Given the description of an element on the screen output the (x, y) to click on. 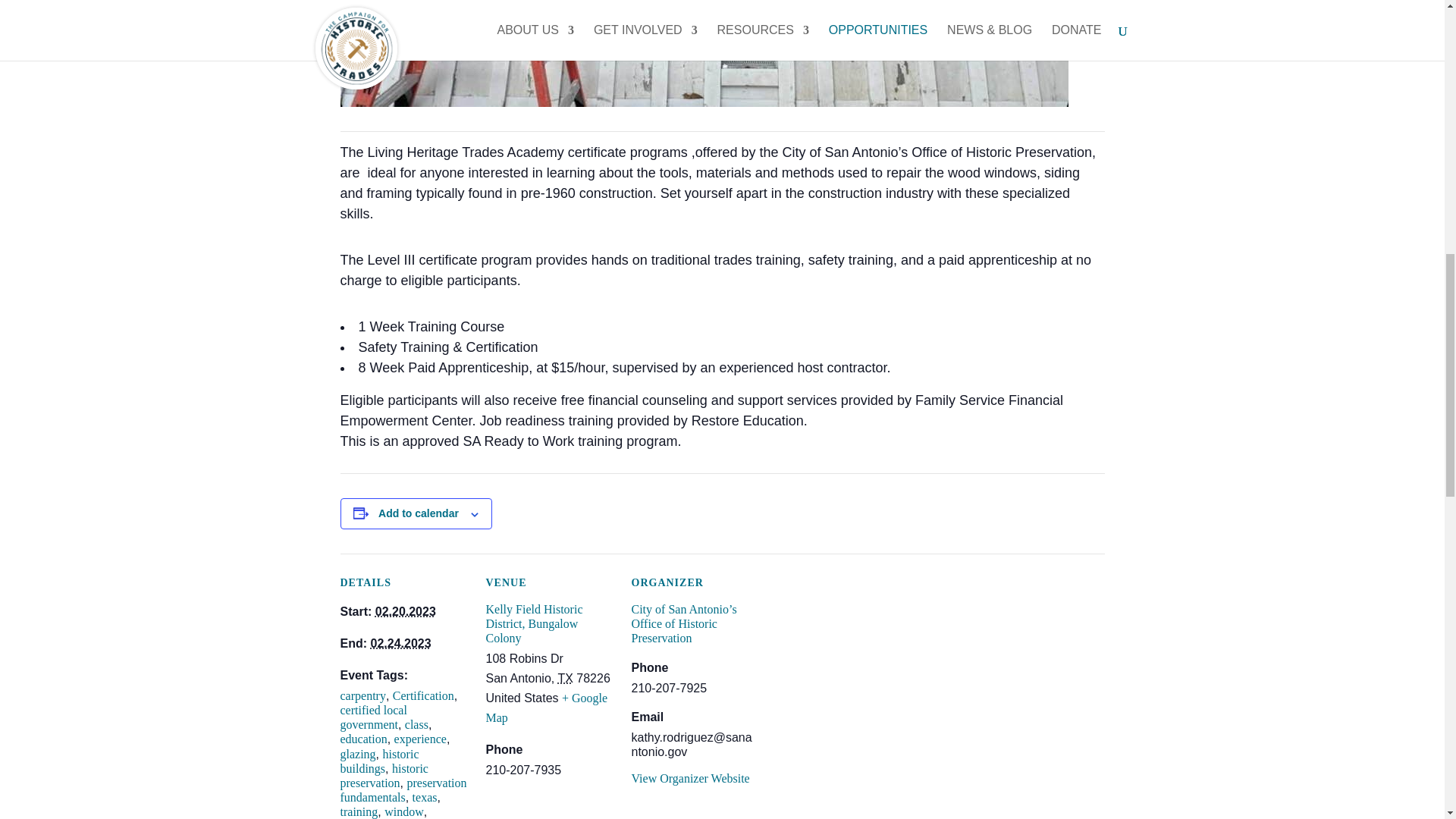
2023-02-24 (399, 643)
Texas (564, 677)
Click to view a Google Map (545, 707)
2023-02-20 (405, 611)
